Given the description of an element on the screen output the (x, y) to click on. 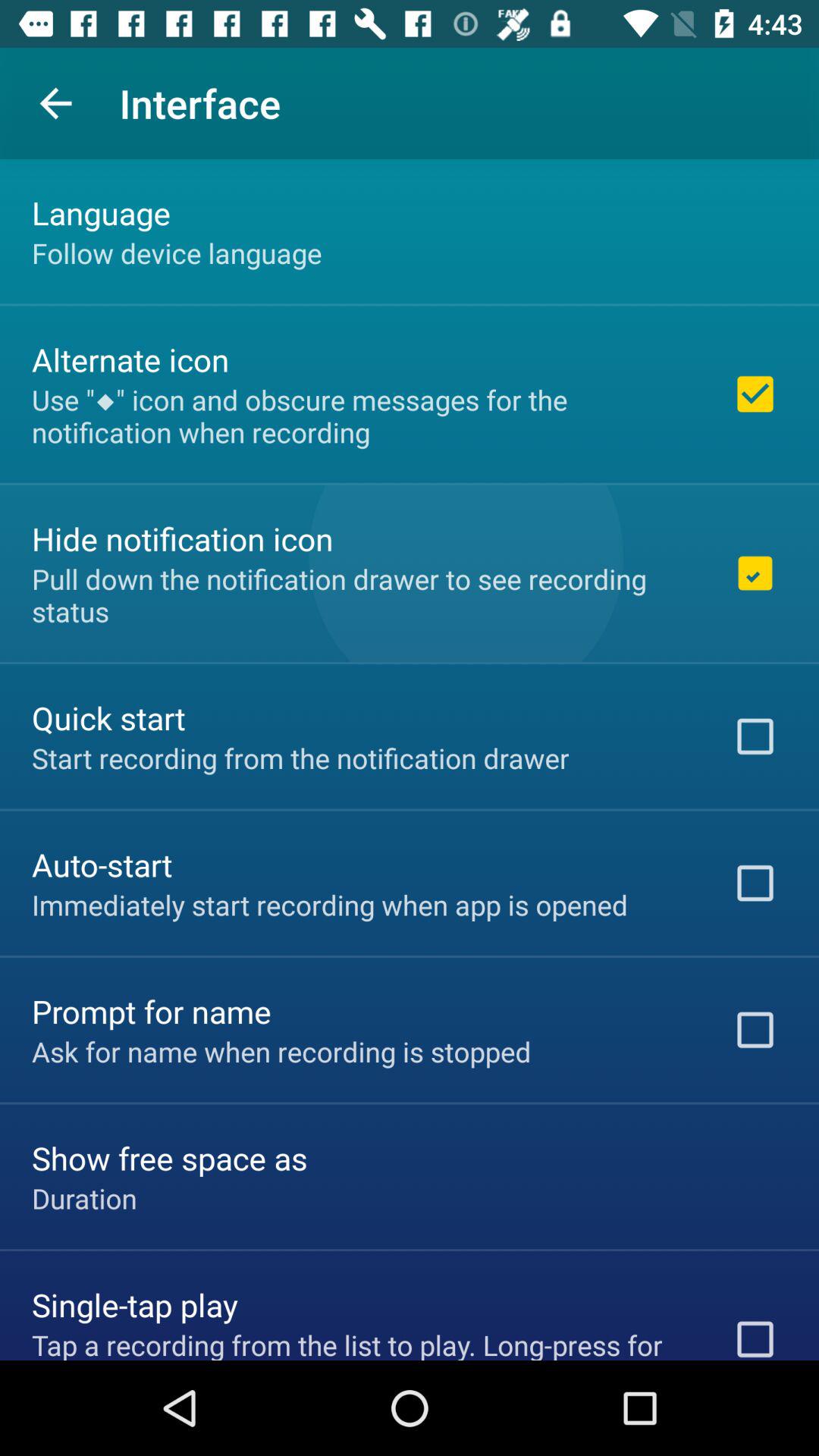
turn off item below the start recording from (101, 864)
